Given the description of an element on the screen output the (x, y) to click on. 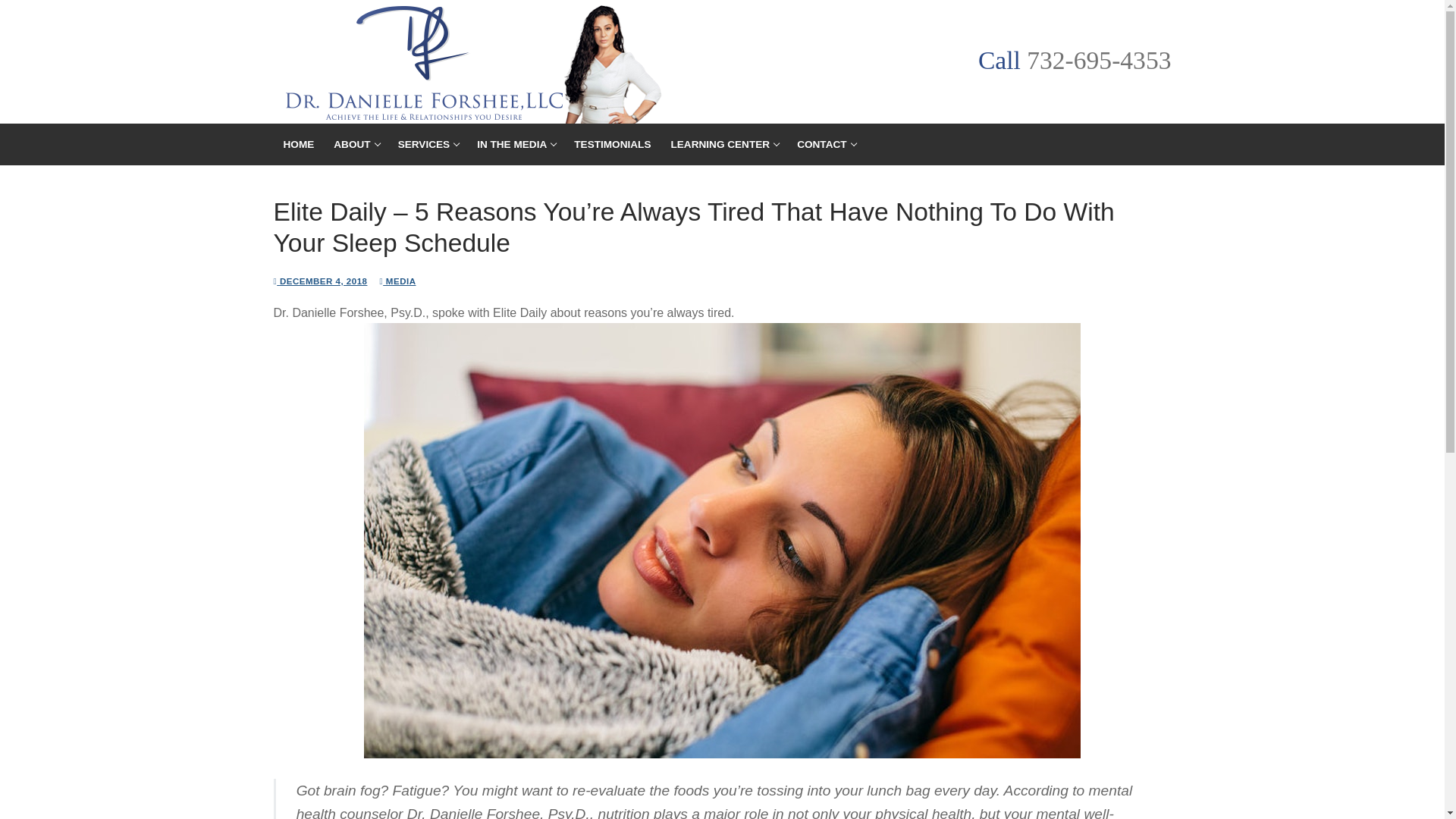
MEDIA (396, 280)
TESTIMONIALS (612, 144)
732-695-4353 (724, 144)
HOME (515, 144)
DECEMBER 4, 2018 (825, 144)
